Given the description of an element on the screen output the (x, y) to click on. 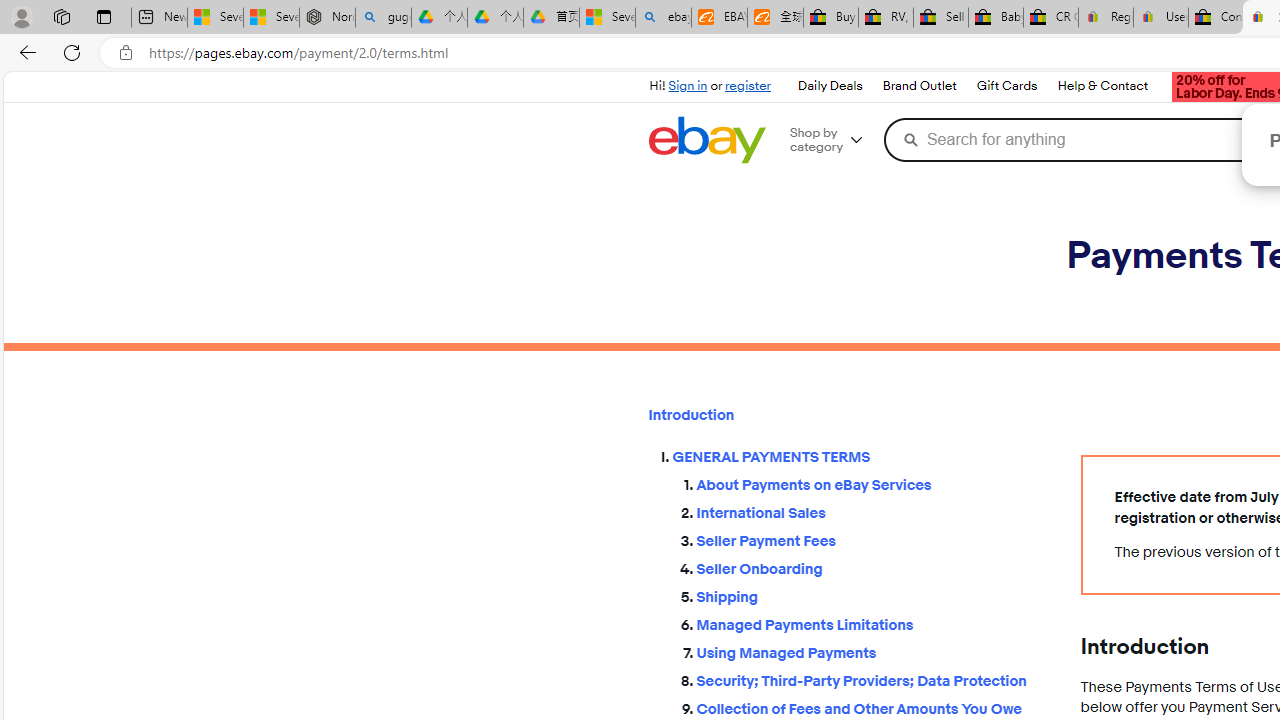
Help & Contact (1103, 86)
GENERAL PAYMENTS TERMS (860, 457)
Collection of Fees and Other Amounts You Owe (872, 709)
register (747, 85)
eBay Home (706, 139)
Shipping (872, 596)
guge yunpan - Search (382, 17)
